Given the description of an element on the screen output the (x, y) to click on. 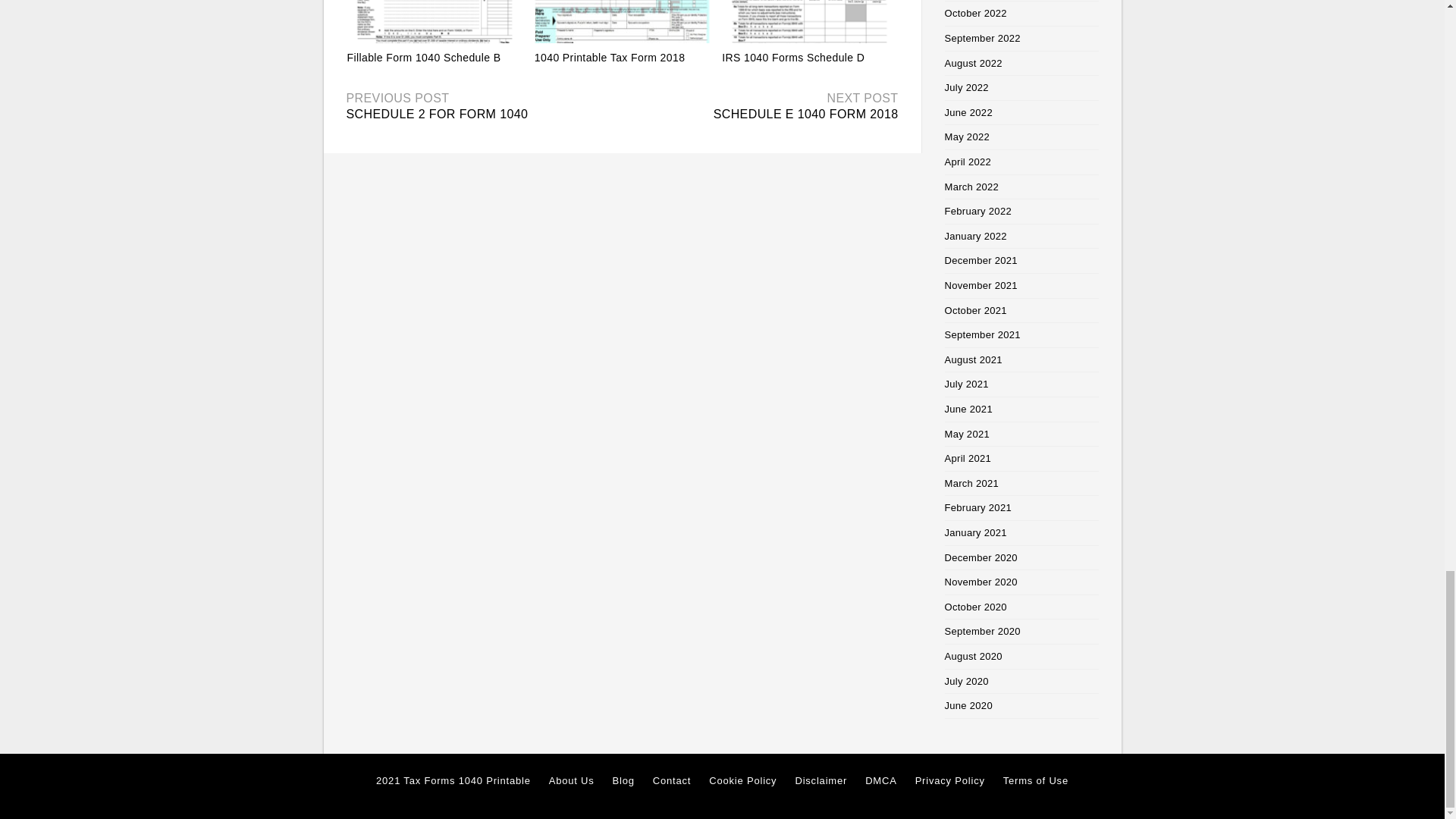
SCHEDULE 2 FOR FORM 1040 (436, 113)
Fillable Form 1040 Schedule B (434, 21)
1040 Printable Tax Form 2018 (622, 21)
1040 Printable Tax Form 2018 (609, 57)
IRS 1040 Forms Schedule D (793, 57)
IRS 1040 Forms Schedule D (793, 57)
SCHEDULE E 1040 FORM 2018 (805, 113)
Fillable Form 1040 Schedule B (423, 57)
1040 Printable Tax Form 2018 (609, 57)
IRS 1040 Forms Schedule D (809, 21)
Fillable Form 1040 Schedule B (423, 57)
